Given the description of an element on the screen output the (x, y) to click on. 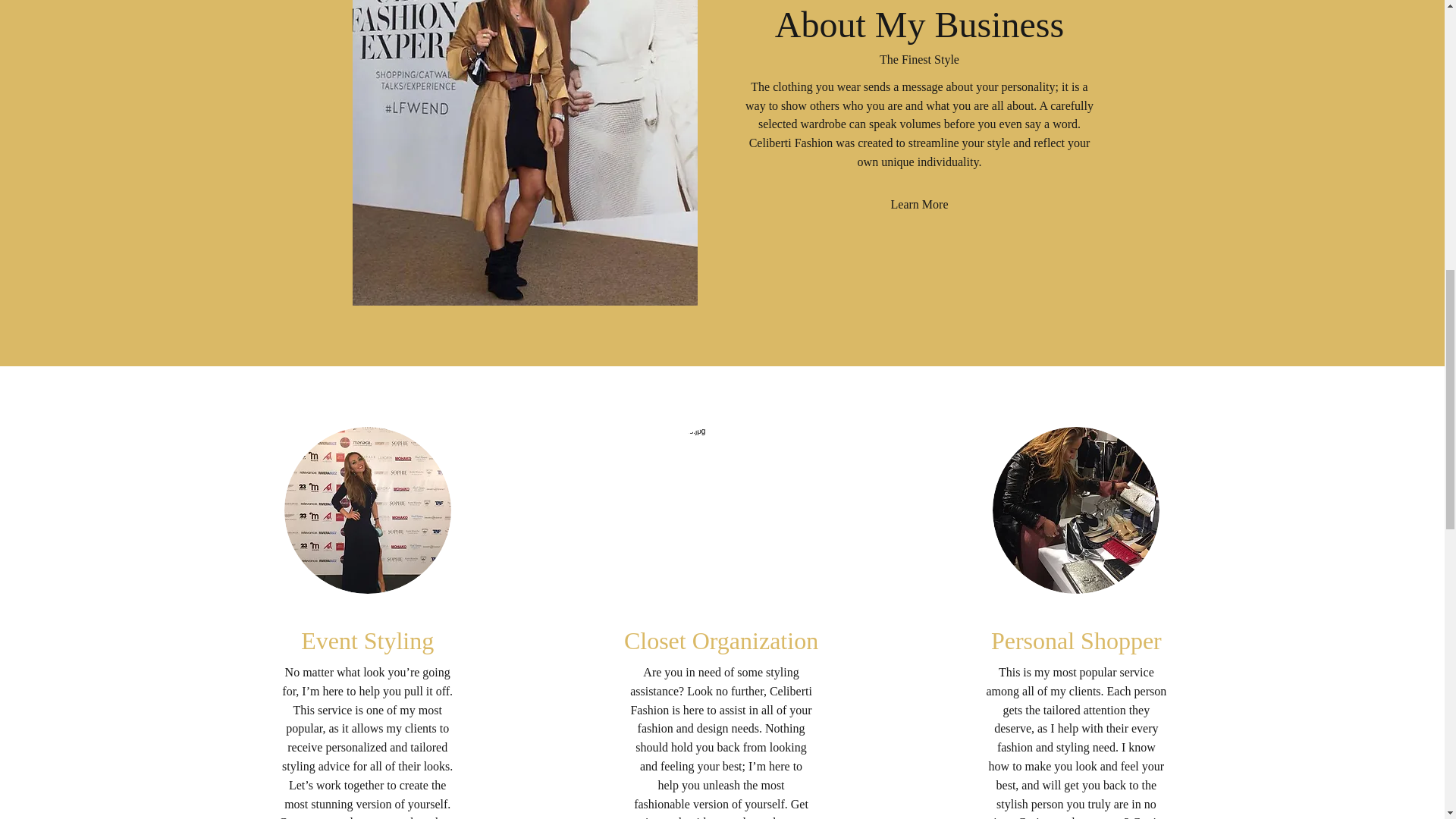
Learn More (919, 204)
